Given the description of an element on the screen output the (x, y) to click on. 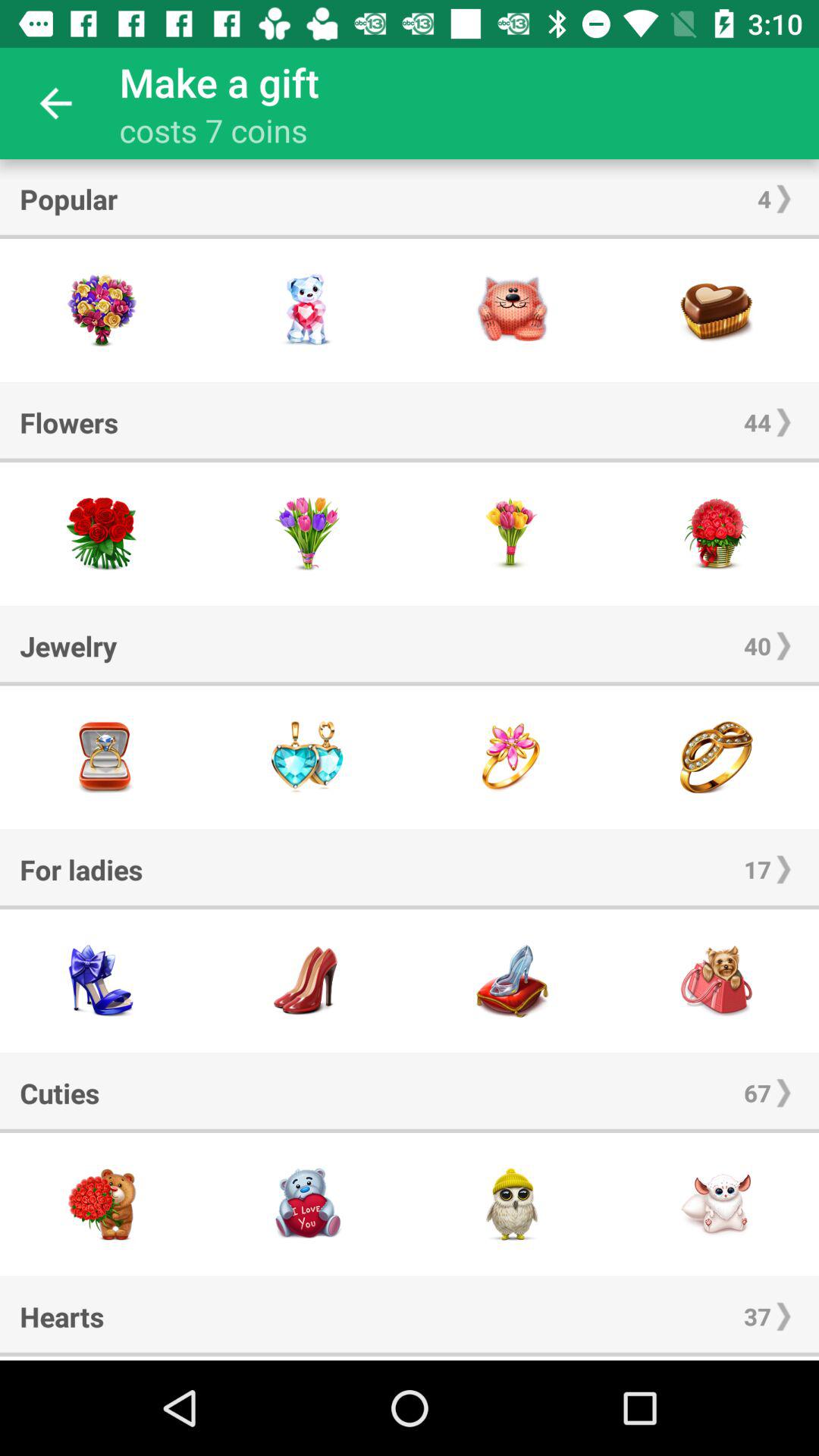
ring jewelry (716, 757)
